Given the description of an element on the screen output the (x, y) to click on. 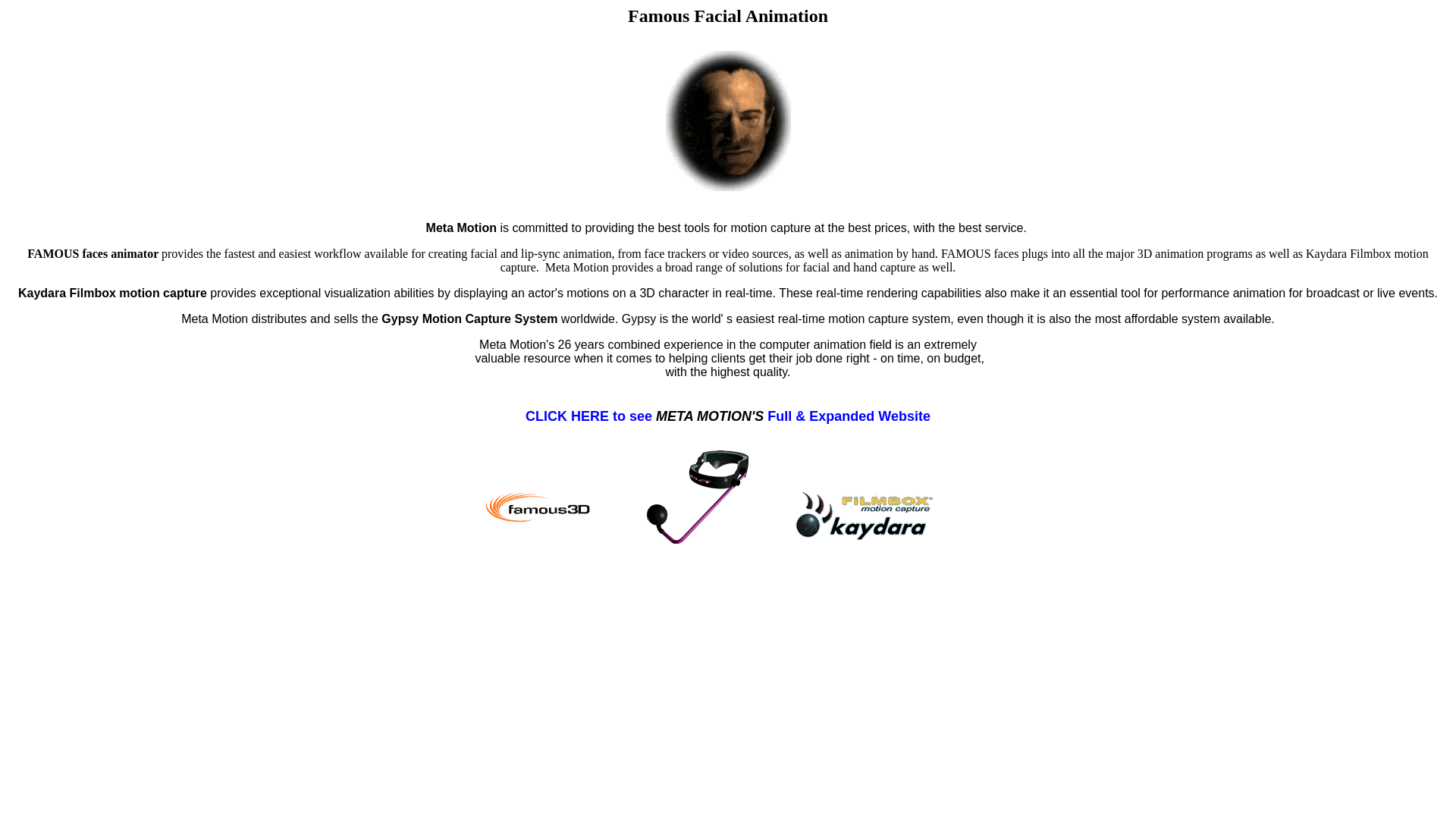
Animation Element type: text (728, 685)
animation Element type: text (728, 640)
CLICK HERE to see META MOTION'S Full & Expanded Website Element type: text (727, 424)
famous facial animation Element type: text (728, 617)
Famous Facial Animation Element type: text (727, 663)
